Given the description of an element on the screen output the (x, y) to click on. 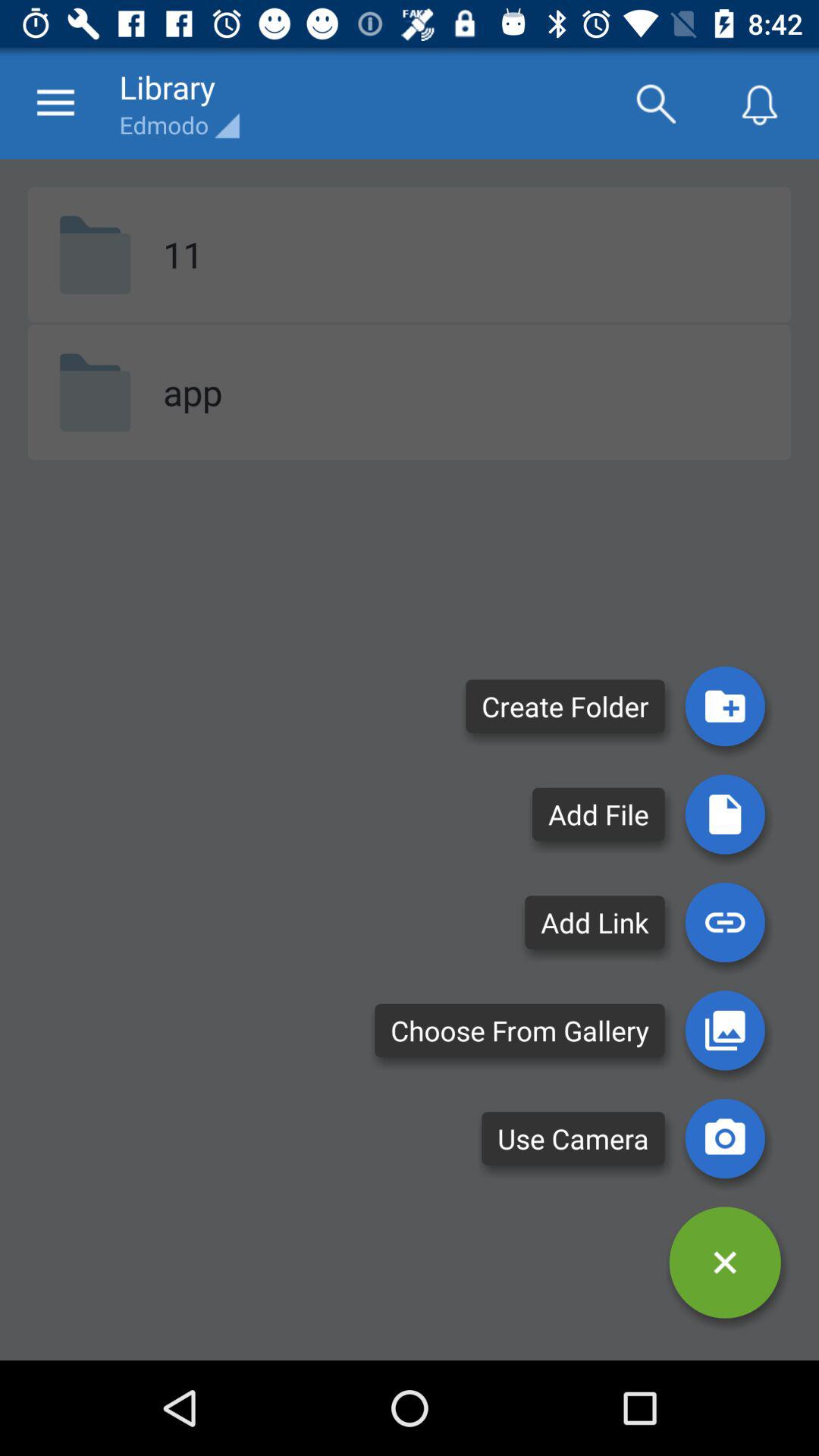
add file (725, 814)
